Given the description of an element on the screen output the (x, y) to click on. 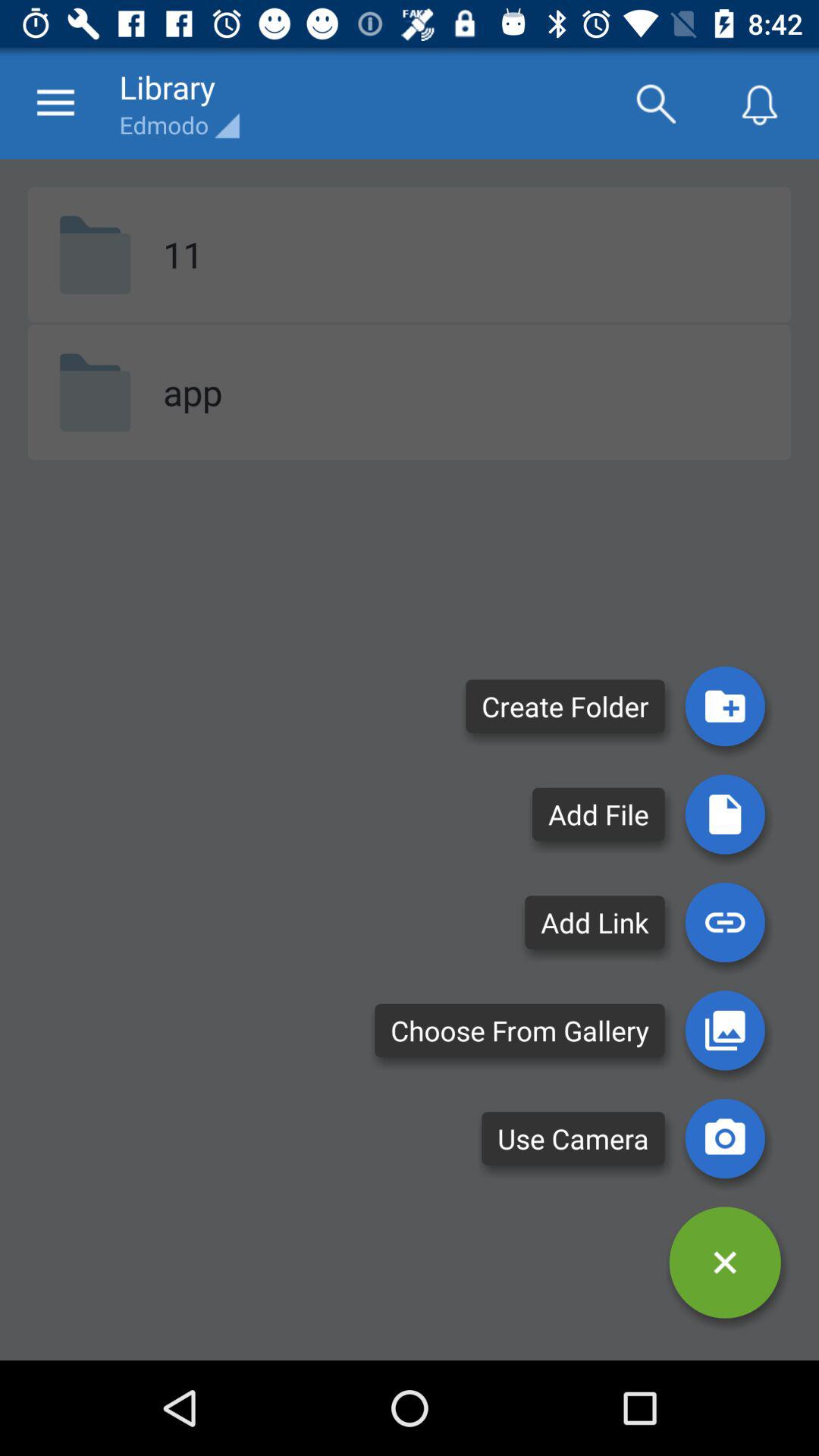
add file (725, 814)
